Given the description of an element on the screen output the (x, y) to click on. 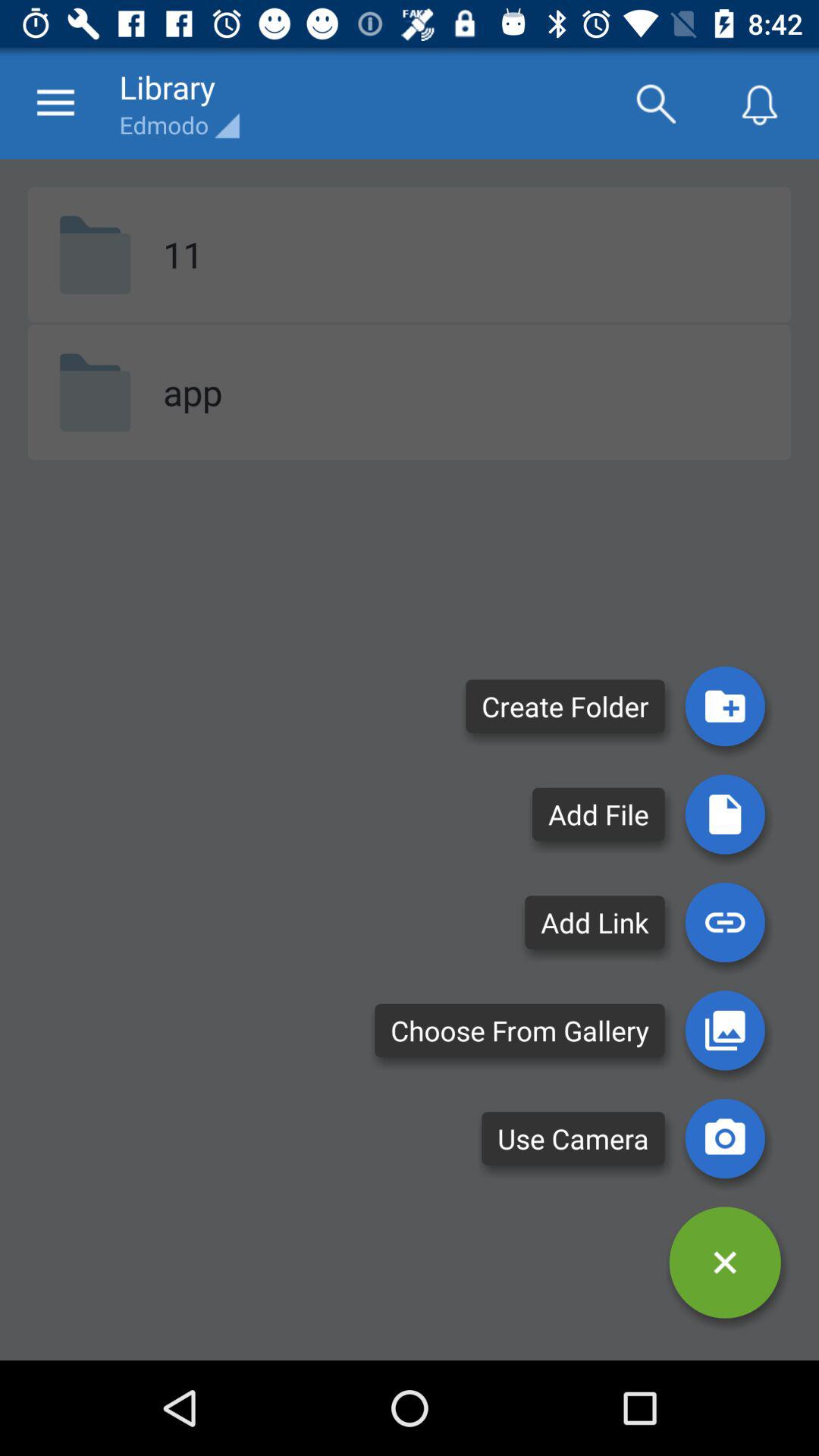
add file (725, 814)
